Given the description of an element on the screen output the (x, y) to click on. 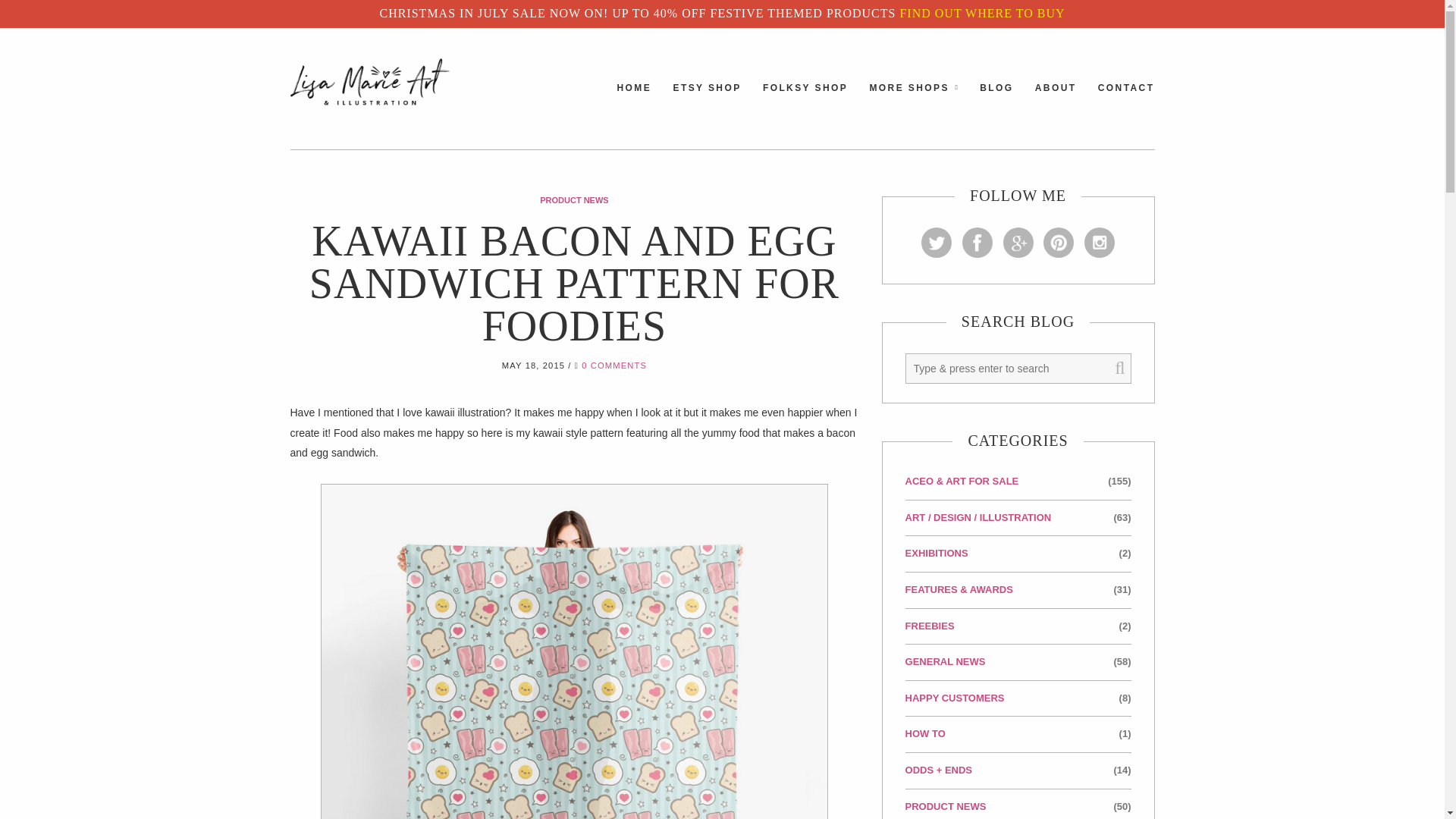
MORE SHOPS (909, 100)
ABOUT (1056, 100)
FOLKSY SHOP (804, 100)
HOME (634, 100)
Visit my Etsy Shop (706, 100)
FIND OUT WHERE TO BUY (981, 12)
BLOG (996, 100)
PRODUCT NEWS (574, 199)
Visit my Folksy Shop (804, 100)
CONTACT (1125, 100)
0 COMMENTS (613, 365)
ETSY SHOP (706, 100)
